Given the description of an element on the screen output the (x, y) to click on. 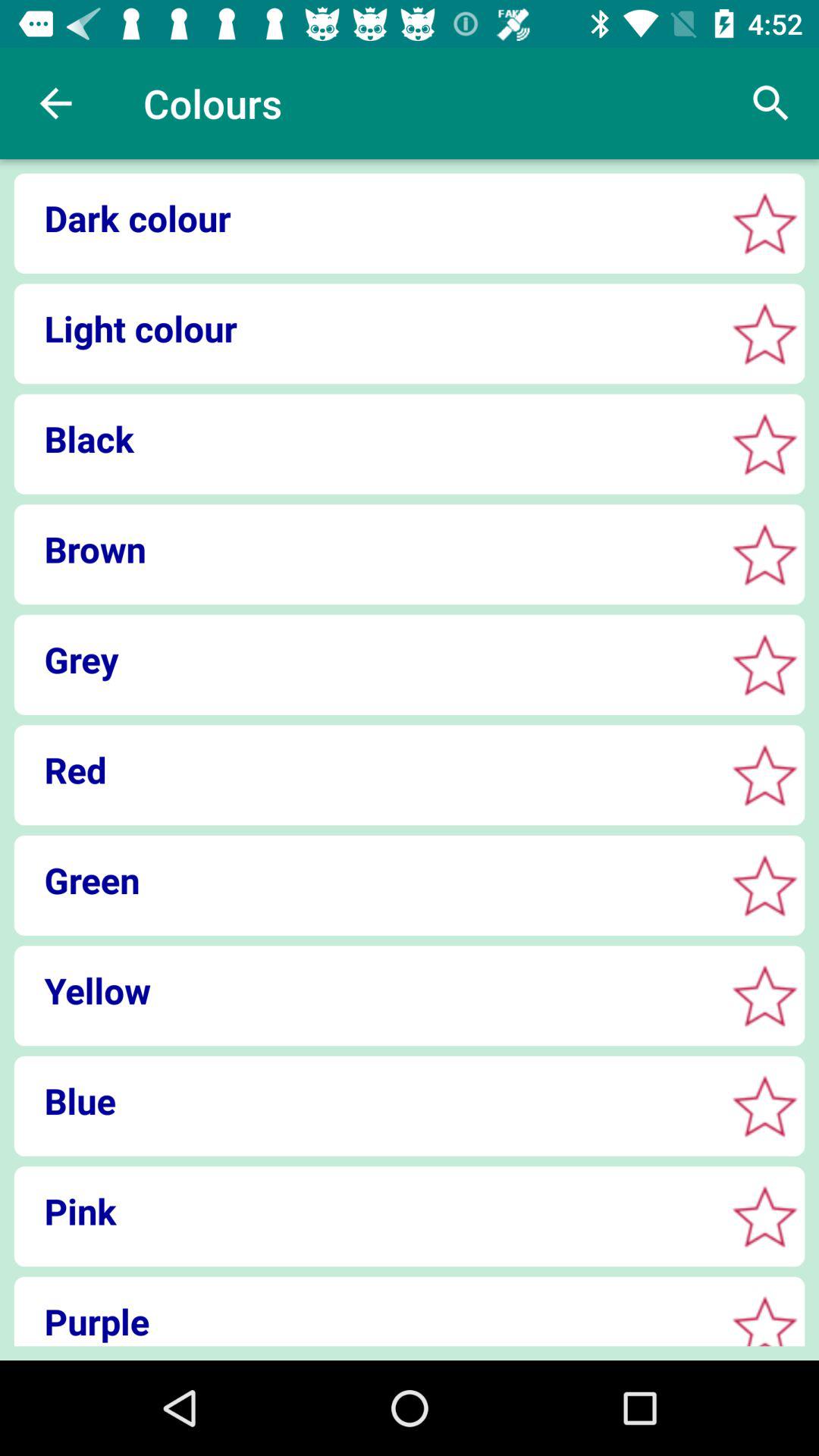
press the item below the black (364, 548)
